Given the description of an element on the screen output the (x, y) to click on. 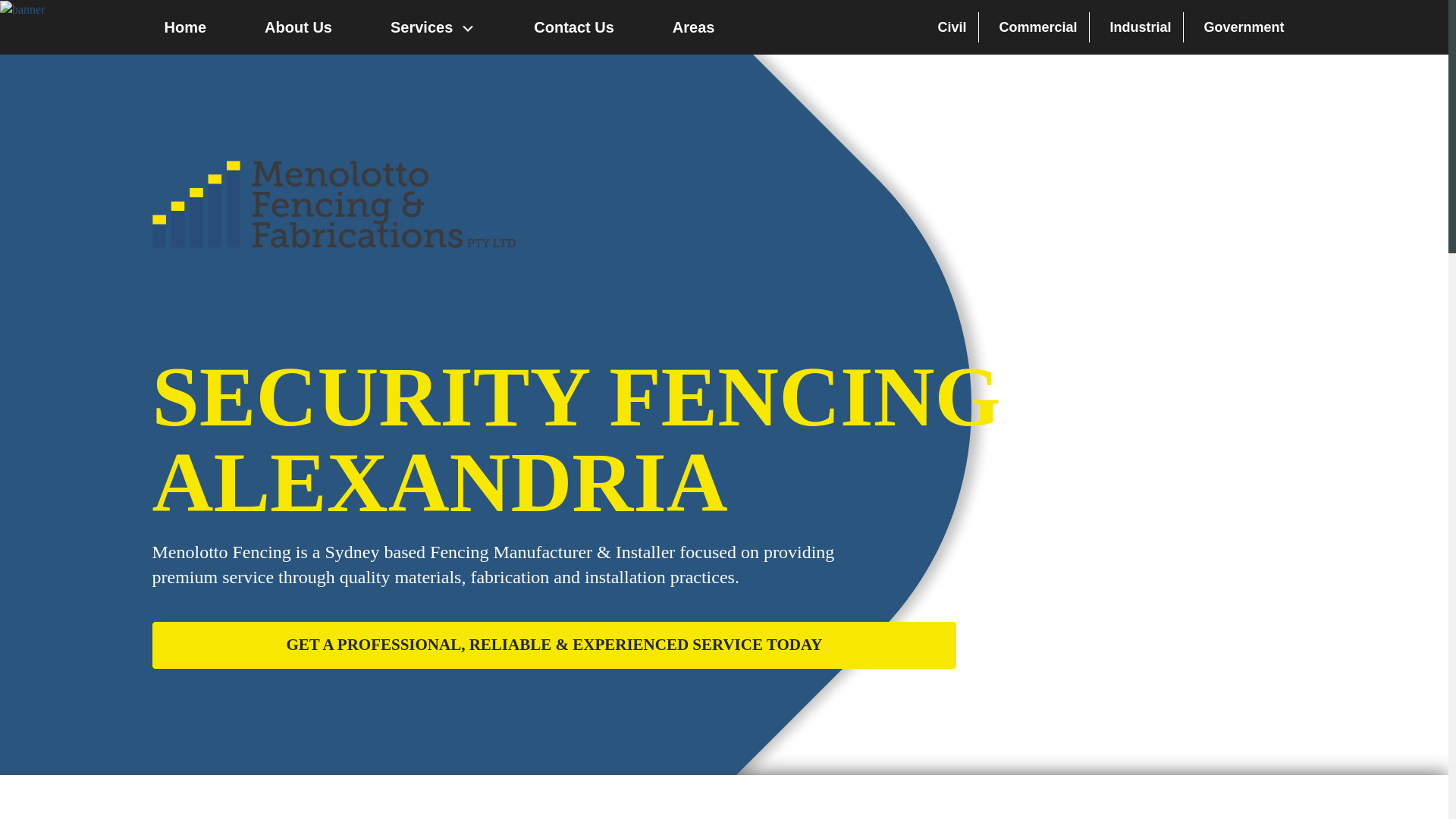
Commercial Element type: text (1037, 27)
danielmenolotto@optusnet.com.au Element type: text (1161, 106)
Civil Element type: text (951, 27)
Industrial Element type: text (1140, 27)
0413 066 610 Element type: text (1161, 81)
About Us Element type: text (298, 27)
Government Element type: text (1243, 27)
Services Element type: text (432, 27)
Areas Element type: text (693, 27)
Home Element type: text (184, 27)
GET A PROFESSIONAL, RELIABLE & EXPERIENCED SERVICE TODAY Element type: text (553, 644)
Contact Us Element type: text (573, 27)
